Given the description of an element on the screen output the (x, y) to click on. 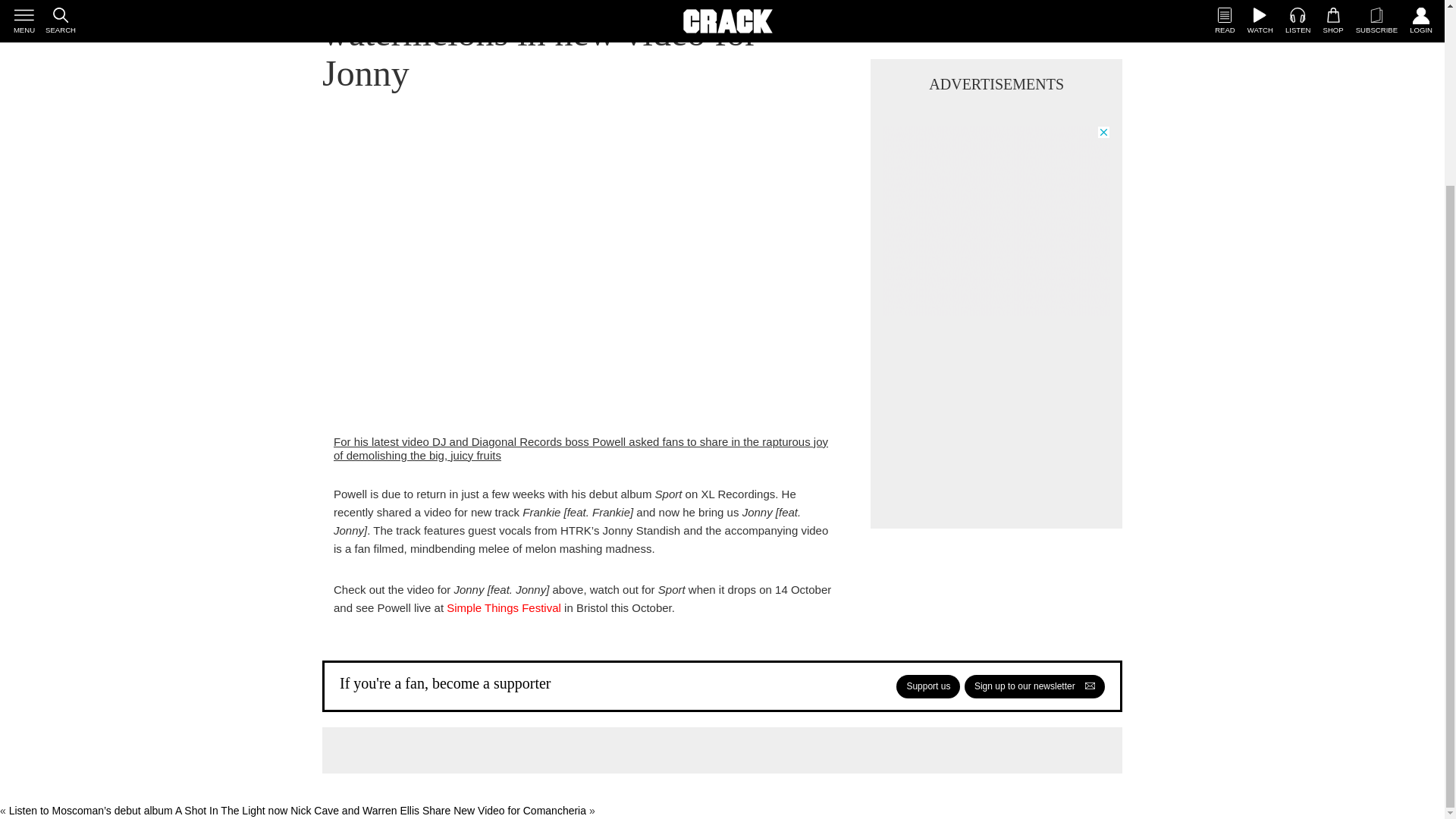
3rd party ad content (995, 119)
3rd party ad content (995, 320)
